Given the description of an element on the screen output the (x, y) to click on. 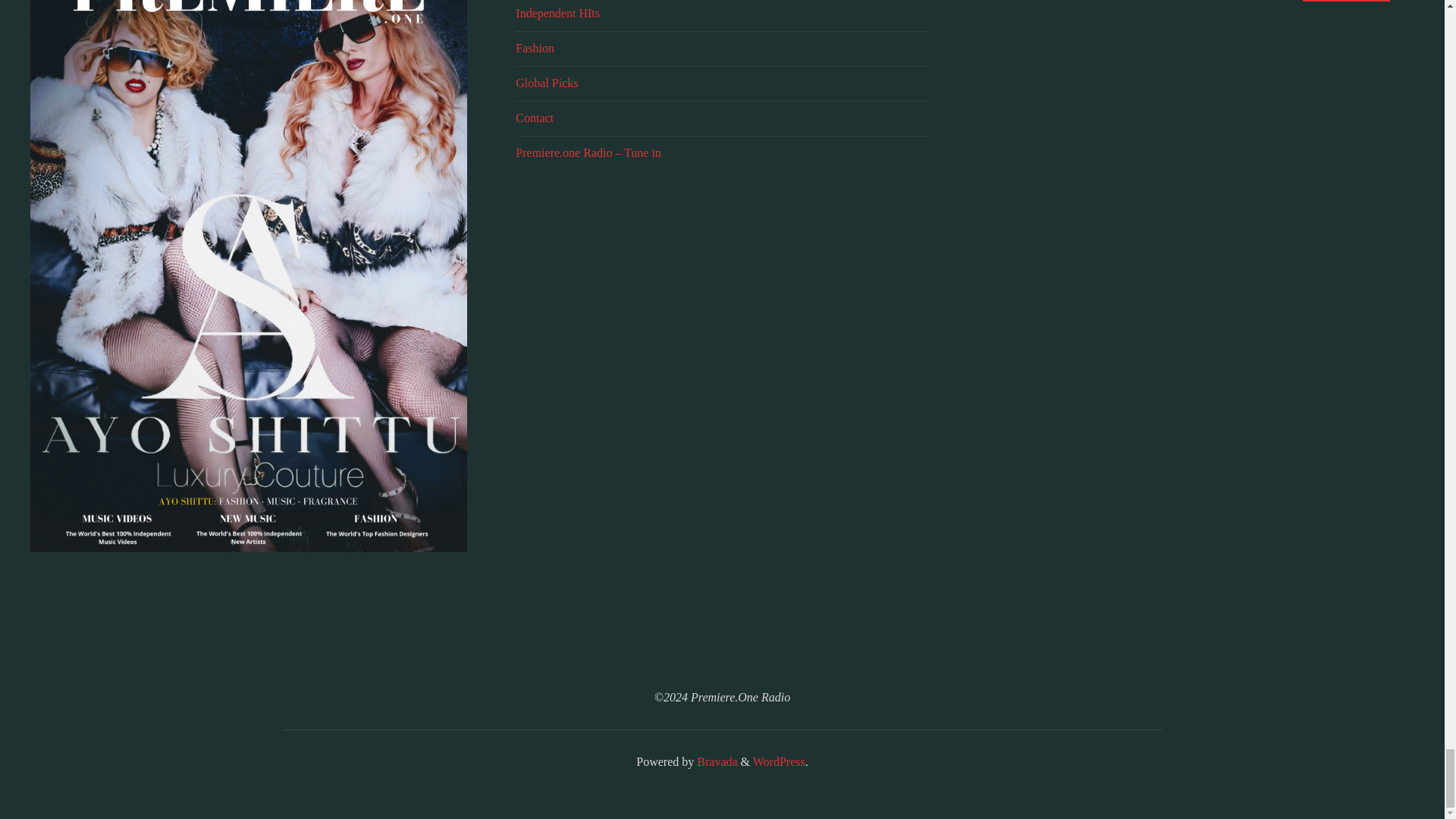
Bravada WordPress Theme by Cryout Creations (715, 761)
